Given the description of an element on the screen output the (x, y) to click on. 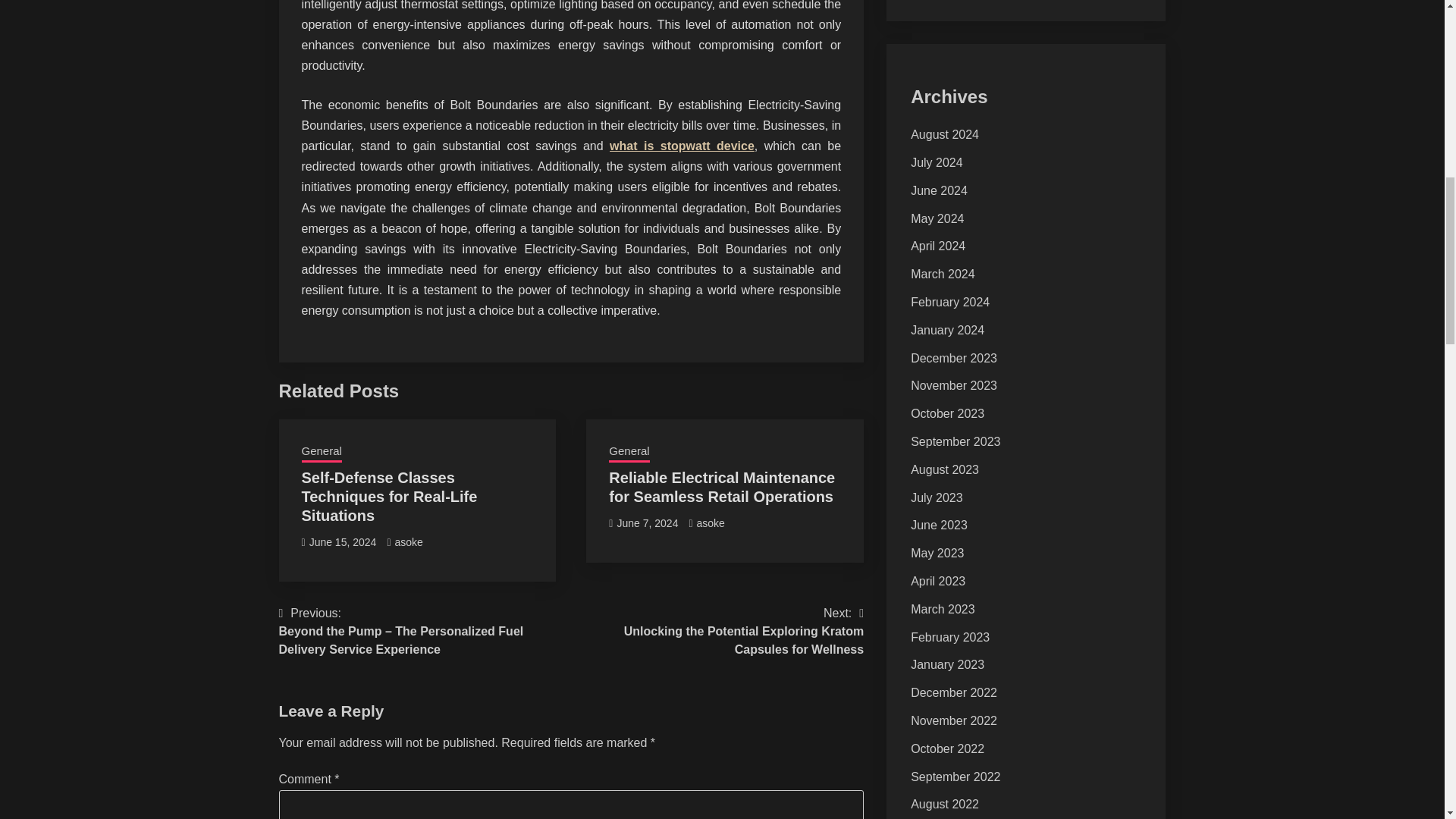
July 2024 (936, 162)
General (321, 452)
June 15, 2024 (342, 541)
asoke (408, 541)
asoke (711, 522)
what is stopwatt device (682, 145)
Self-Defense Classes Techniques for Real-Life Situations (389, 496)
General (628, 452)
August 2024 (944, 133)
June 7, 2024 (646, 522)
